Given the description of an element on the screen output the (x, y) to click on. 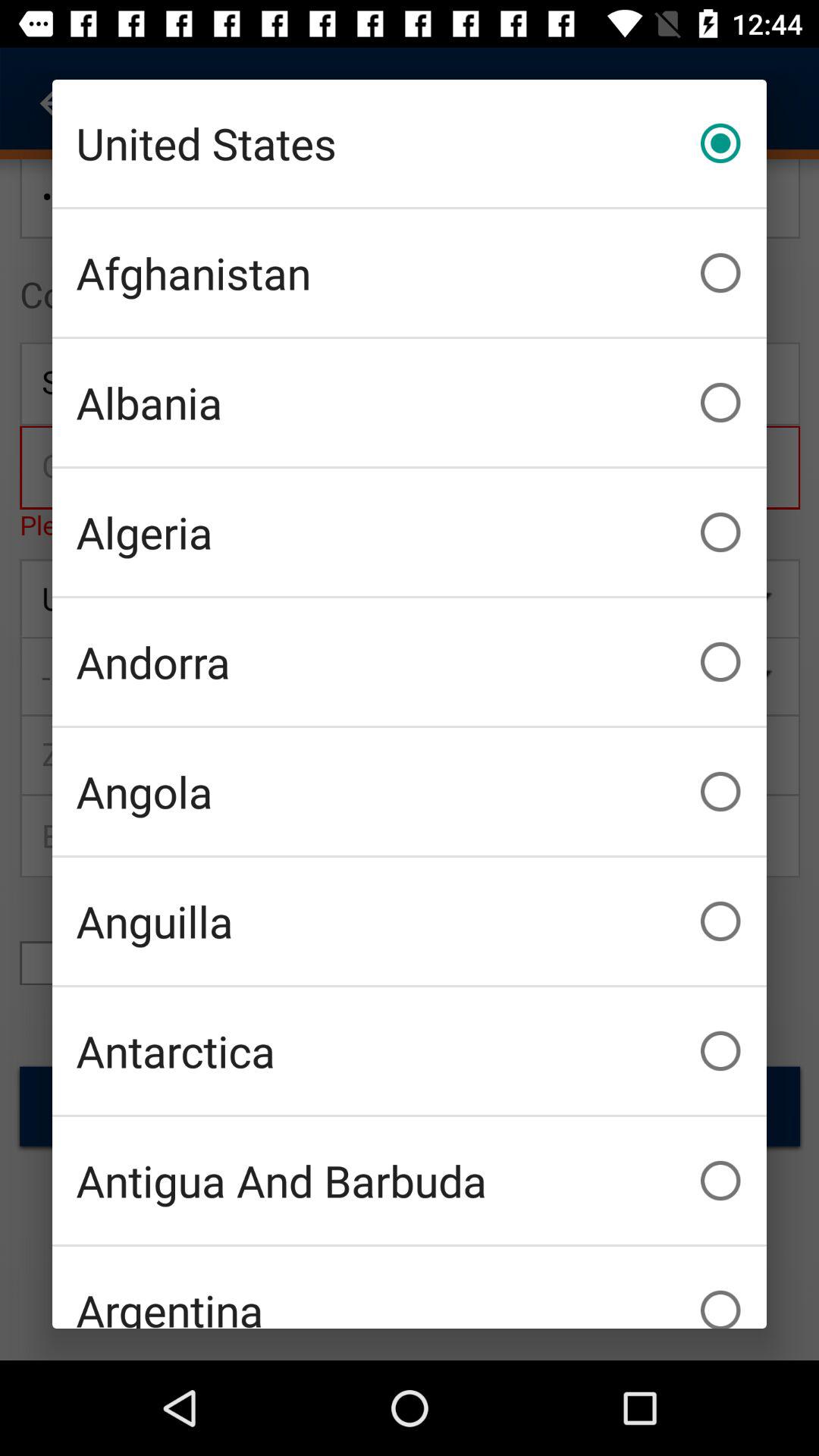
choose icon below algeria (409, 661)
